Given the description of an element on the screen output the (x, y) to click on. 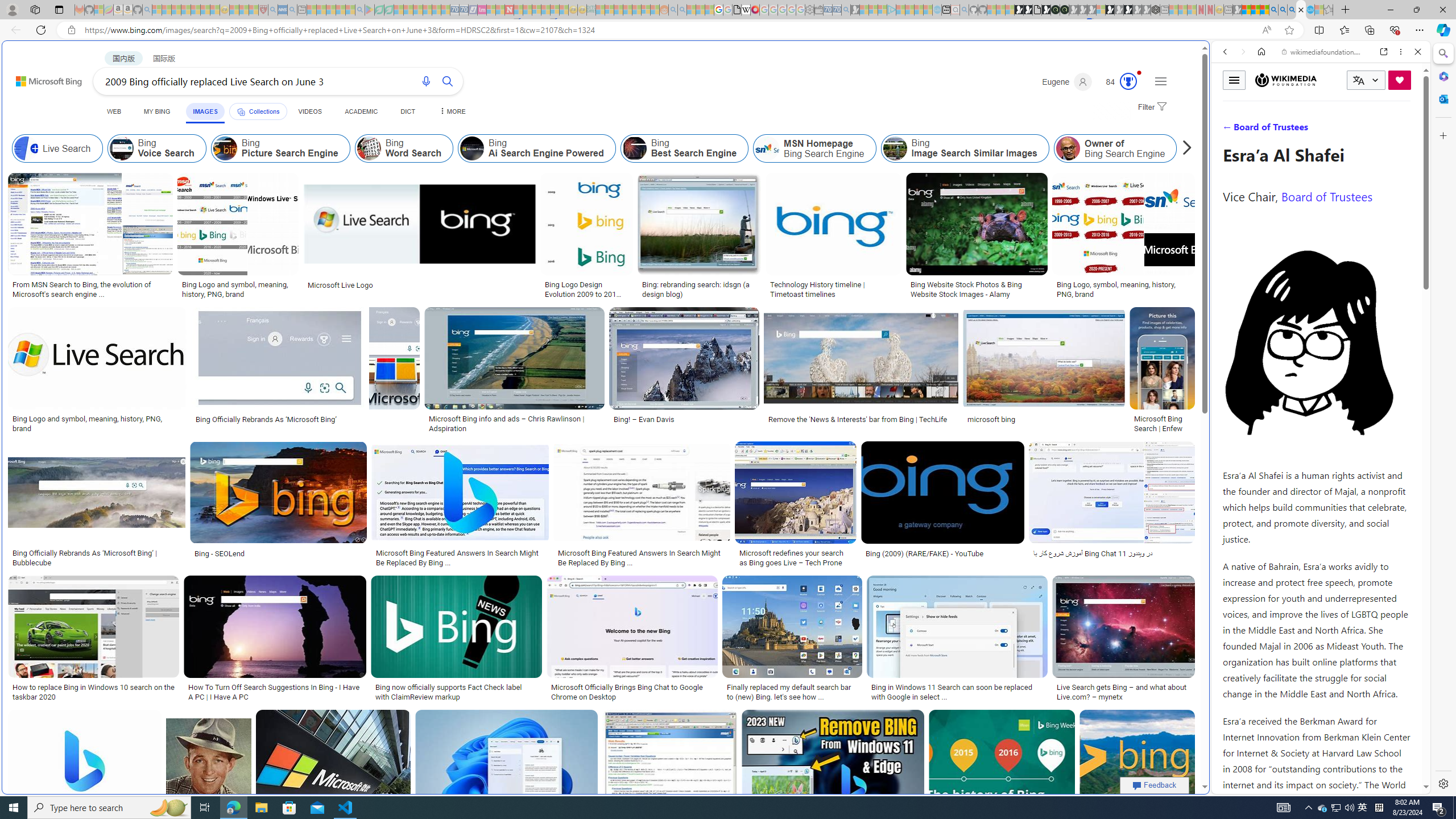
Search Filter, IMAGES (1262, 129)
Pets - MSN - Sleeping (340, 9)
Bing Logo and symbol, meaning, history, PNG, brandSave (98, 371)
How to replace Bing in Windows 10 search on the taskbar 2020 (93, 691)
Actions for this site (1370, 583)
Bing Logo and symbol, meaning, history, PNG, brand (97, 423)
How to replace Bing in Windows 10 search on the taskbar 2020 (93, 691)
